Given the description of an element on the screen output the (x, y) to click on. 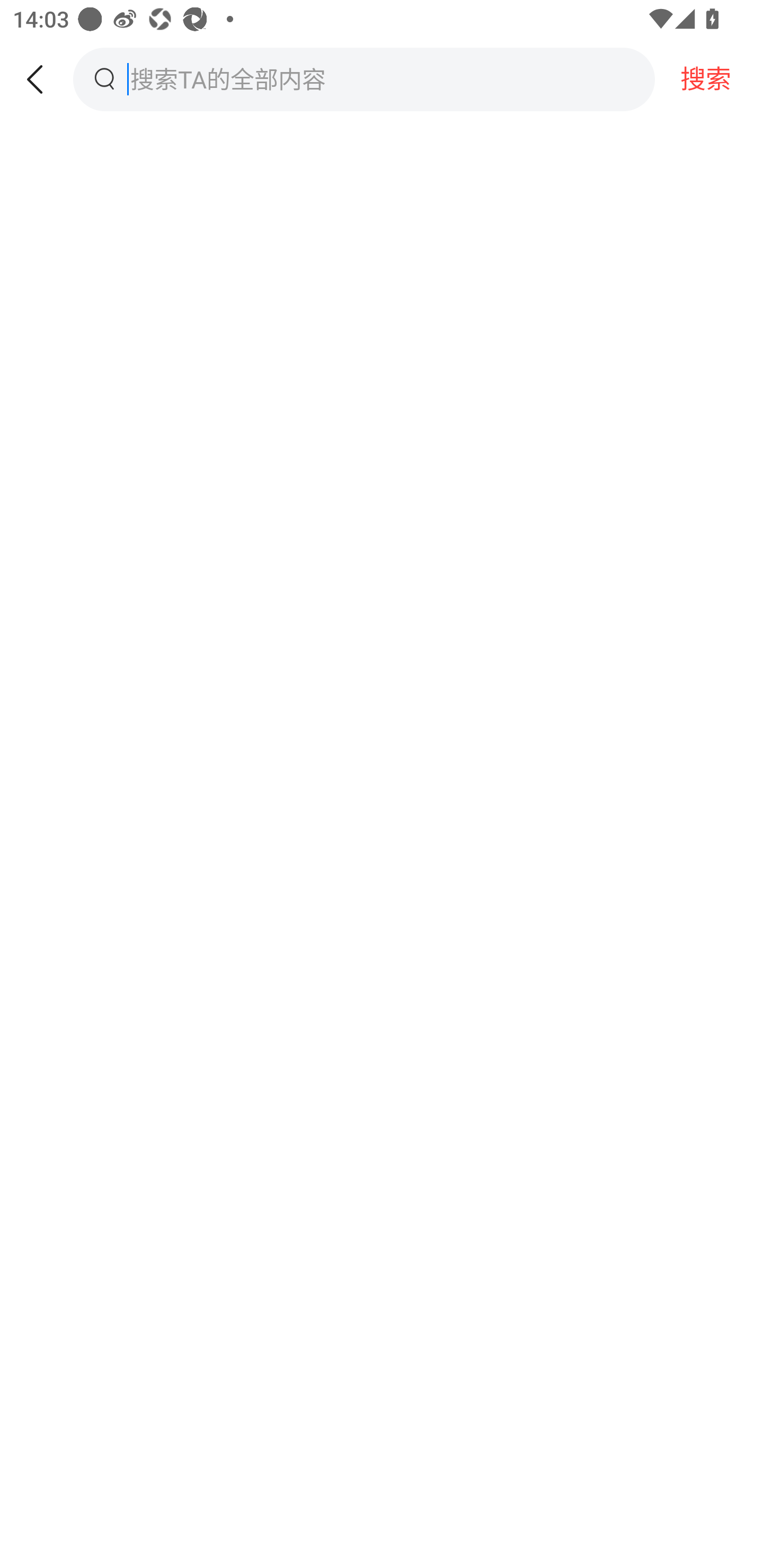
返回 (36, 78)
搜索 (708, 78)
 搜索TA的全部内容 (355, 78)
